Given the description of an element on the screen output the (x, y) to click on. 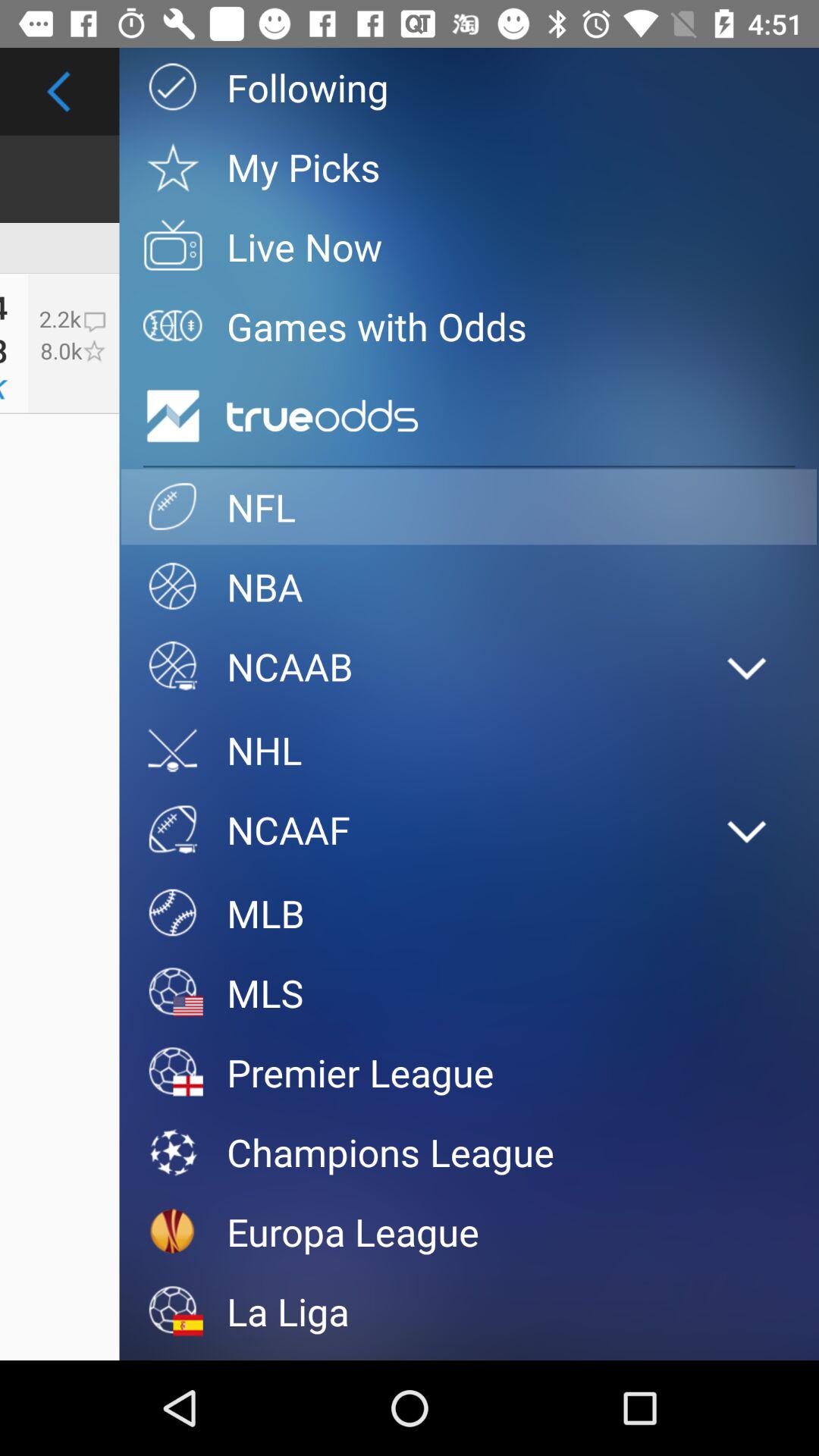
click the icon next to the 2 2k c (469, 326)
